Given the description of an element on the screen output the (x, y) to click on. 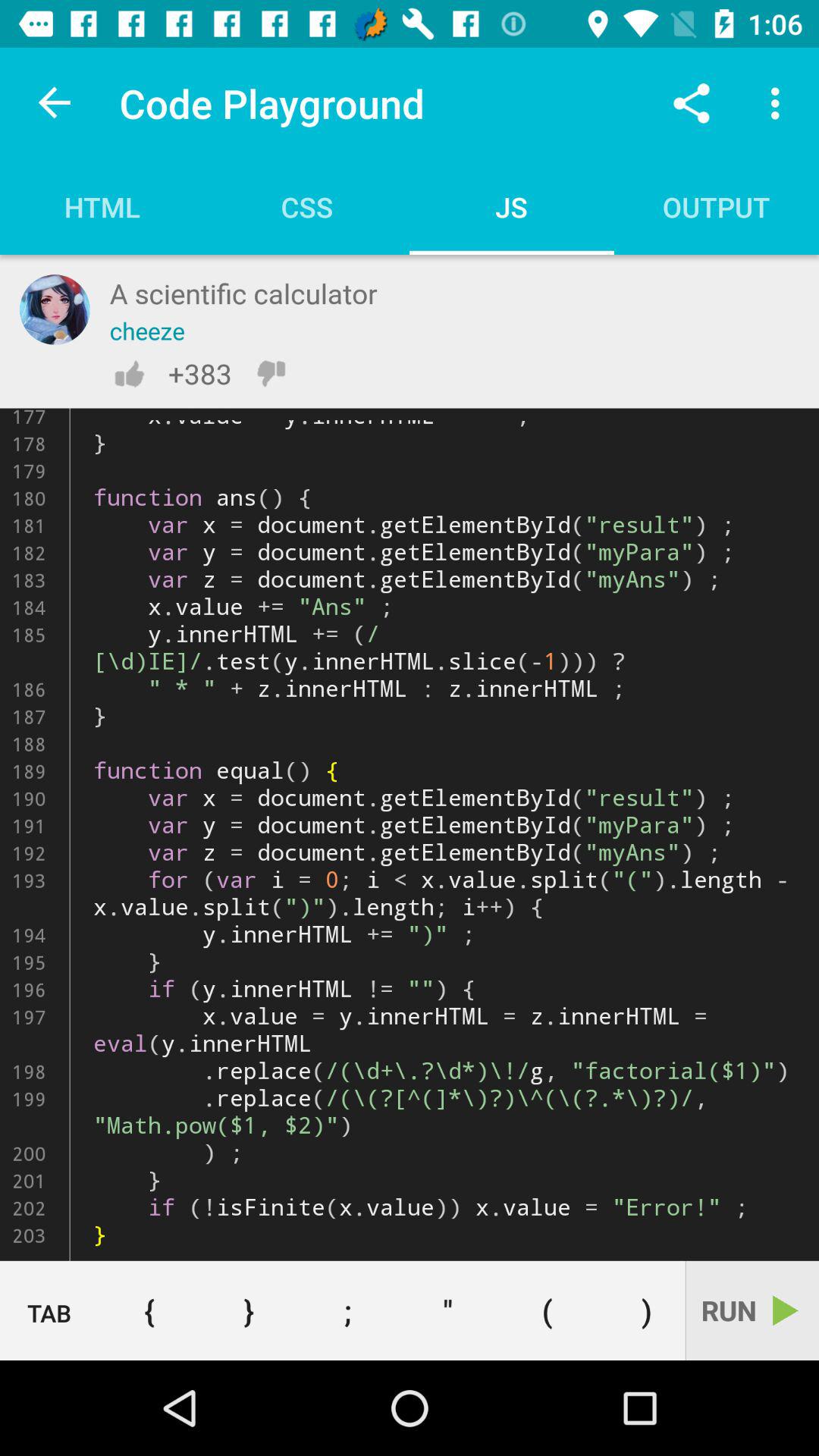
thumbs down or dislike (270, 373)
